Given the description of an element on the screen output the (x, y) to click on. 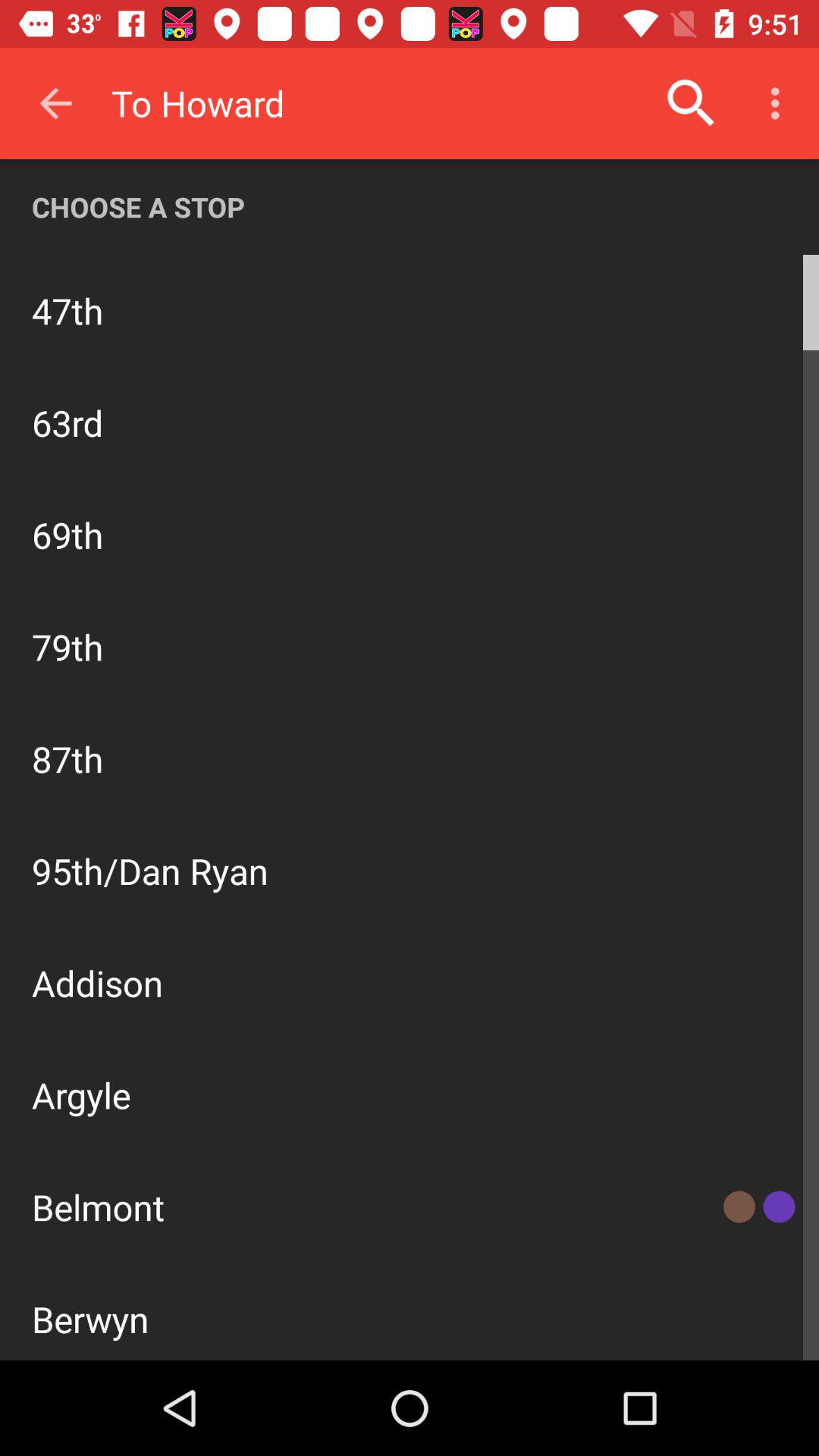
press item next to the north bound item (731, 309)
